Given the description of an element on the screen output the (x, y) to click on. 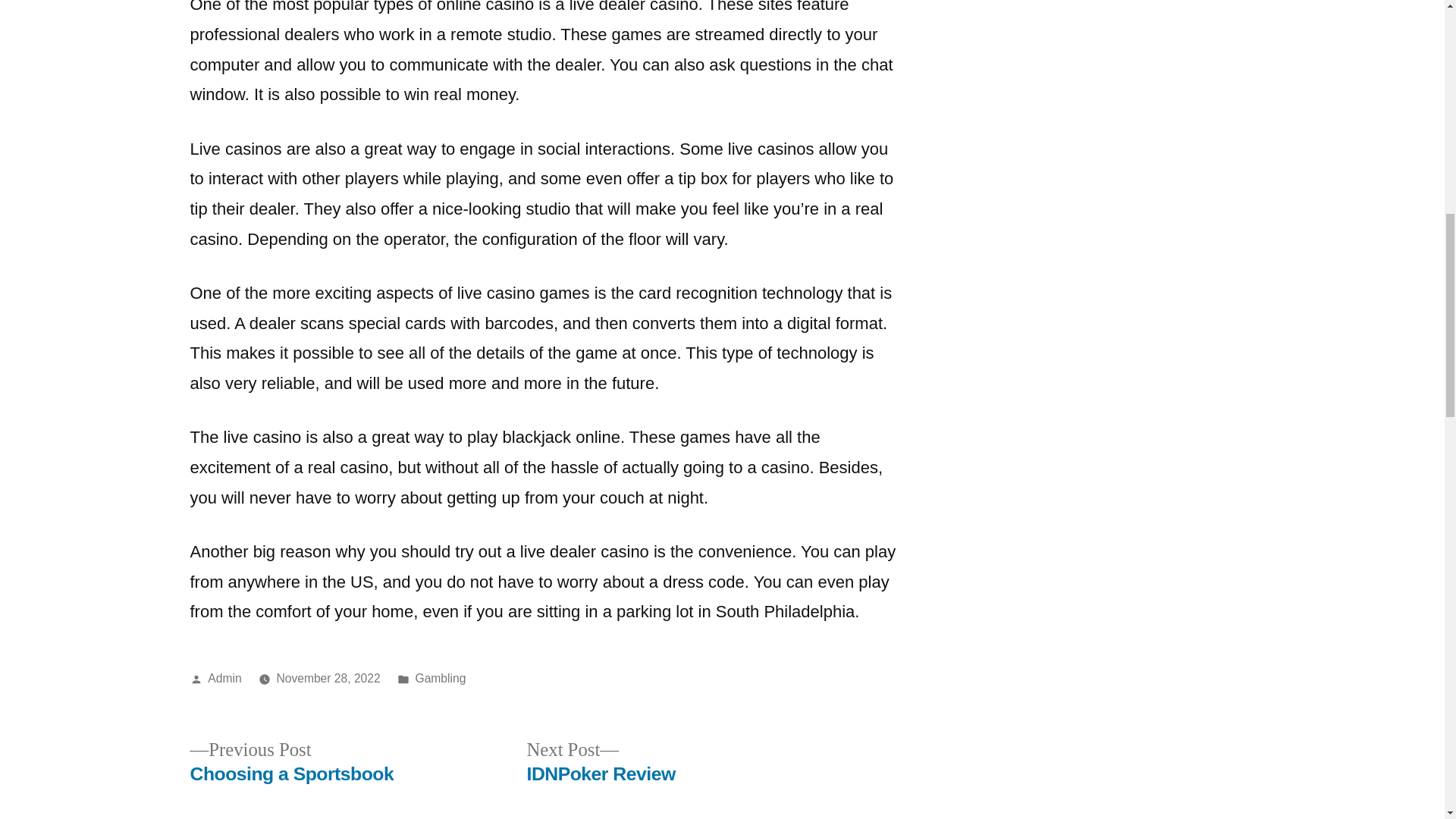
Gambling (291, 762)
November 28, 2022 (439, 677)
Admin (600, 762)
